Given the description of an element on the screen output the (x, y) to click on. 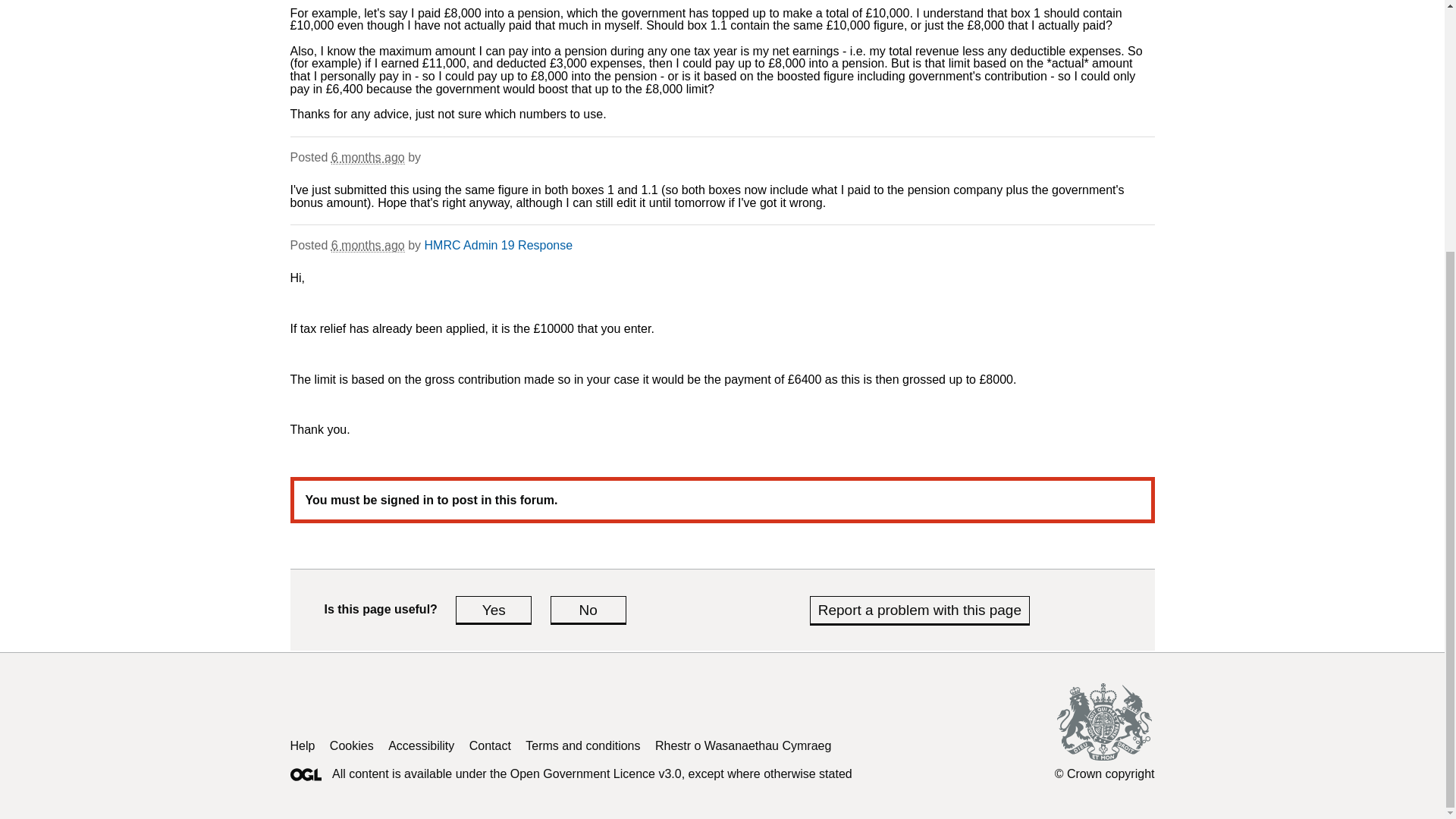
Help (301, 745)
HMRC Admin 19 Response (499, 245)
Accessibility (421, 745)
Open Government Licence v3.0 (596, 773)
Rhestr o Wasanaethau Cymraeg (743, 745)
Terms and conditions (582, 745)
Cookies (352, 745)
Contact (489, 745)
Report a problem with this page (919, 610)
